Given the description of an element on the screen output the (x, y) to click on. 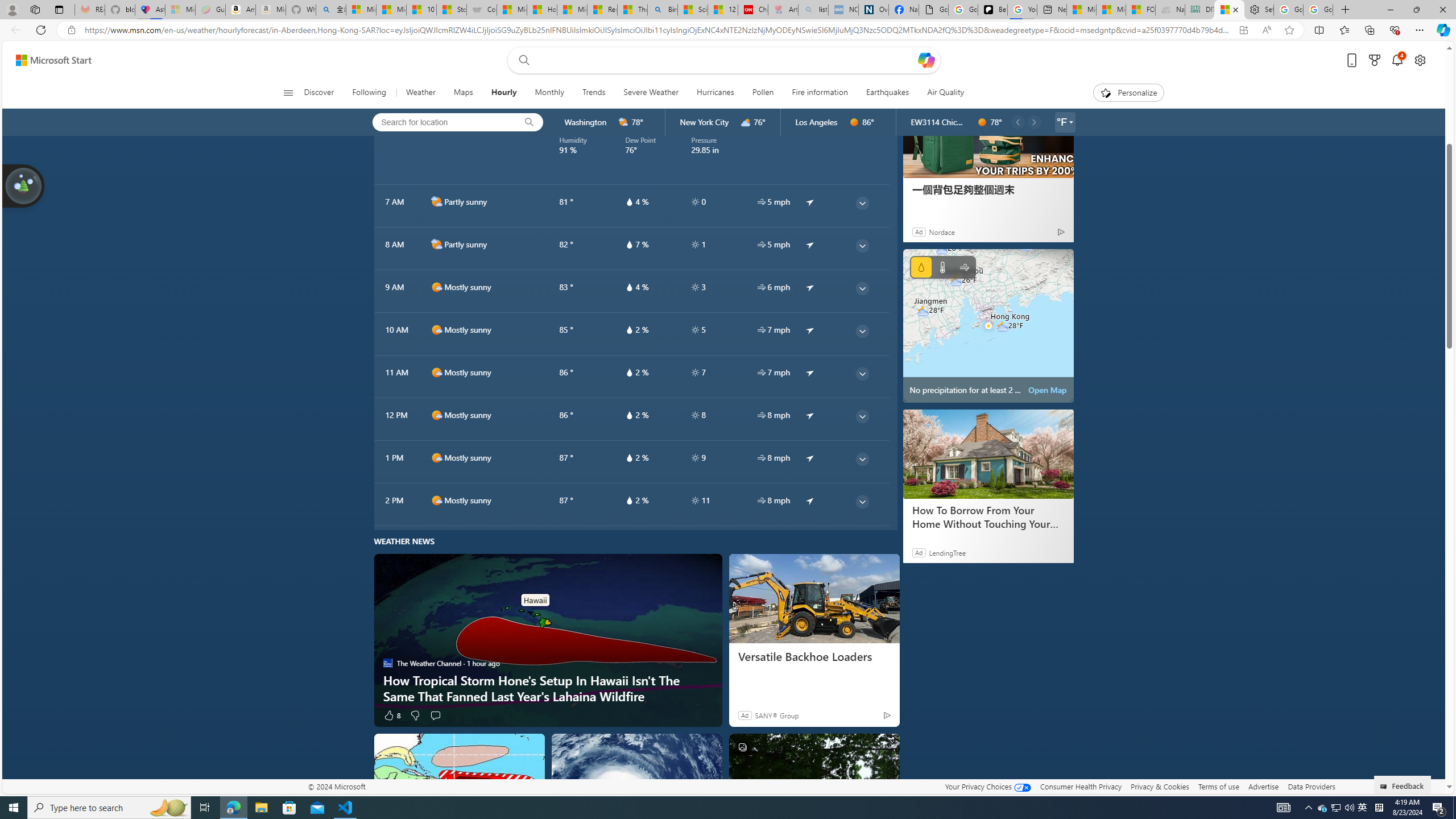
How To Borrow From Your Home Without Touching Your Mortgage (988, 453)
Hurricanes (715, 92)
Open settings (1420, 60)
Navy Quest (1169, 9)
static map image of vector map (988, 325)
Open navigation menu (287, 92)
Consumer Health Privacy (1080, 786)
Data Providers (1311, 786)
Privacy & Cookies (1160, 785)
n2000 (436, 57)
common/carouselChevron (1033, 122)
